Given the description of an element on the screen output the (x, y) to click on. 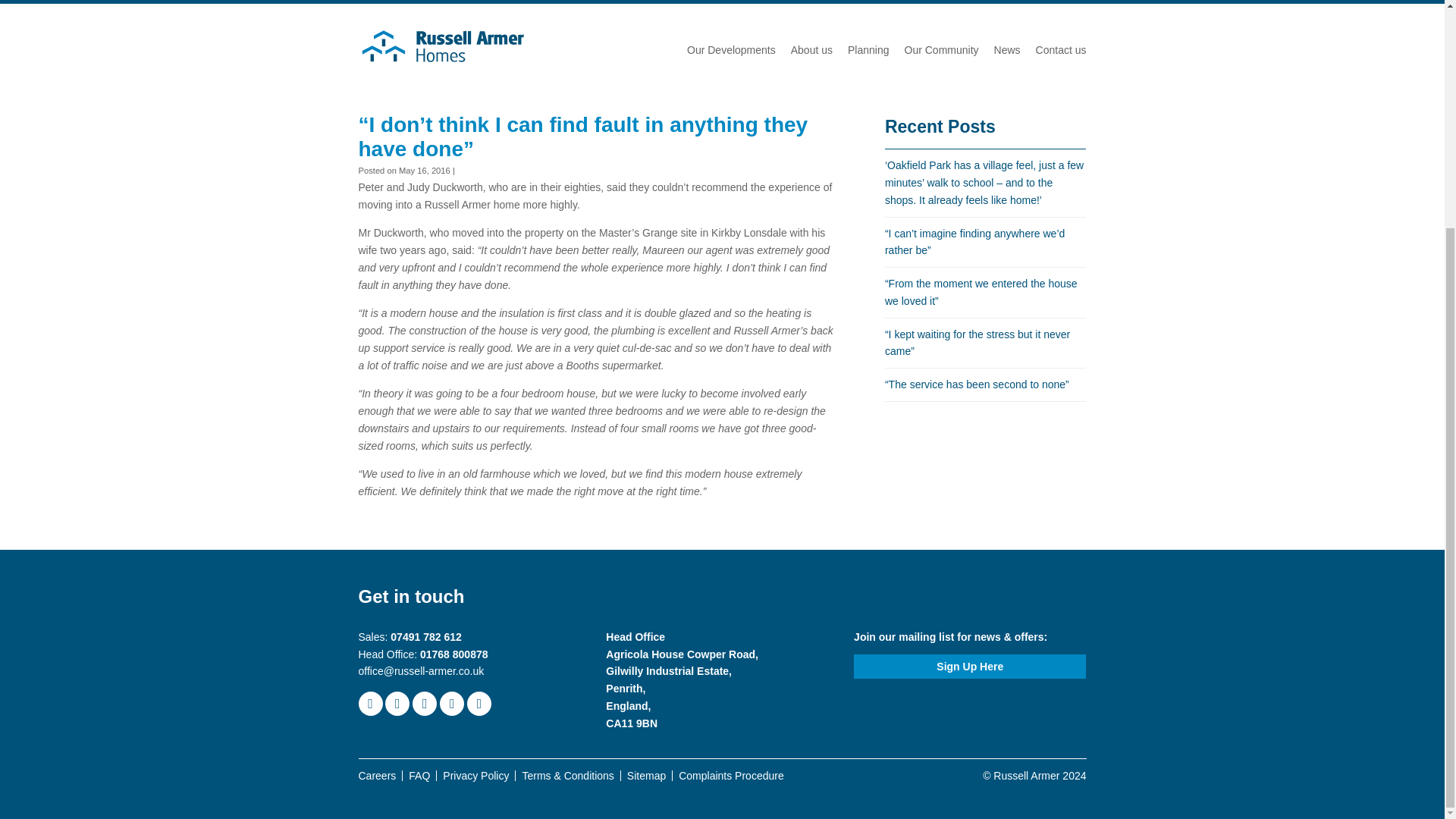
01768 800878 (453, 654)
07491 782 612 (425, 636)
